Given the description of an element on the screen output the (x, y) to click on. 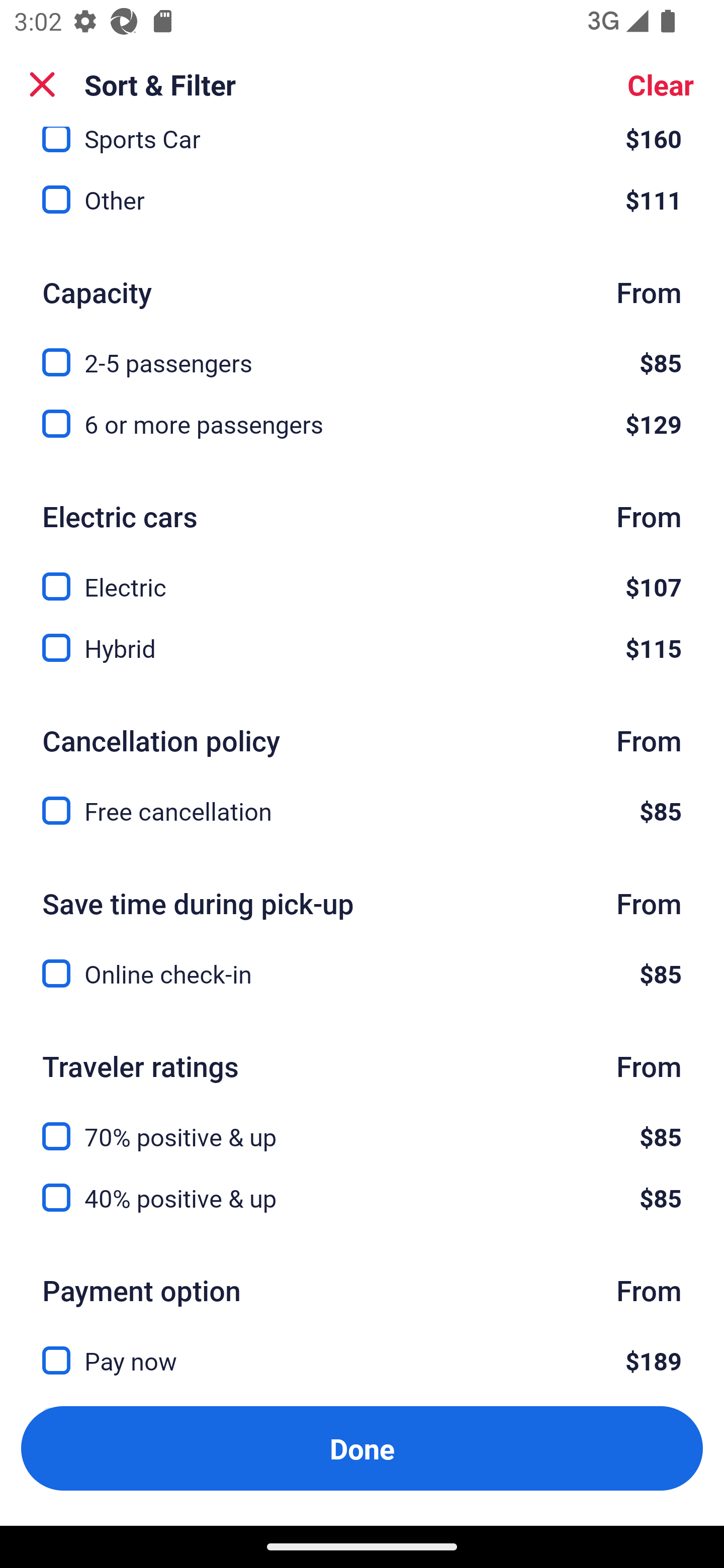
Close Sort and Filter (42, 84)
Clear (660, 84)
Sports Car, $160 Sports Car $160 (361, 142)
Other, $111 Other $111 (361, 199)
2-5 passengers, $85 2-5 passengers $85 (361, 350)
Electric, $107 Electric $107 (361, 575)
Hybrid, $115 Hybrid $115 (361, 647)
Free cancellation, $85 Free cancellation $85 (361, 810)
Online check-in, $85 Online check-in $85 (361, 973)
70% positive & up, $85 70% positive & up $85 (361, 1124)
40% positive & up, $85 40% positive & up $85 (361, 1197)
Pay now, $189 Pay now $189 (361, 1348)
Apply and close Sort and Filter Done (361, 1448)
